Given the description of an element on the screen output the (x, y) to click on. 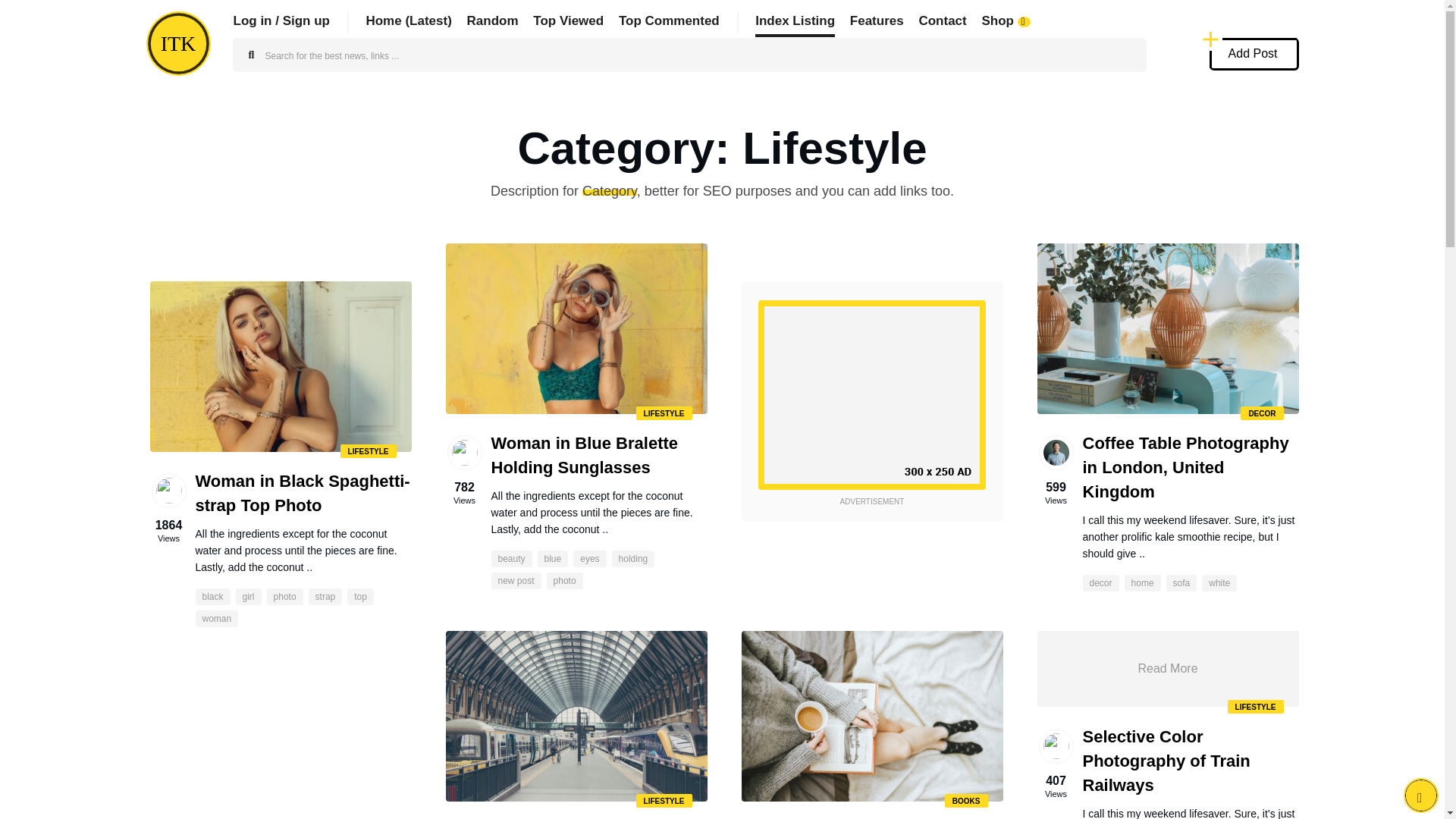
ITK (177, 43)
Random (492, 20)
Top Viewed (568, 20)
Index Listing (794, 20)
Features (877, 20)
Top Commented (668, 20)
Contact (942, 20)
Shop (1007, 20)
